Given the description of an element on the screen output the (x, y) to click on. 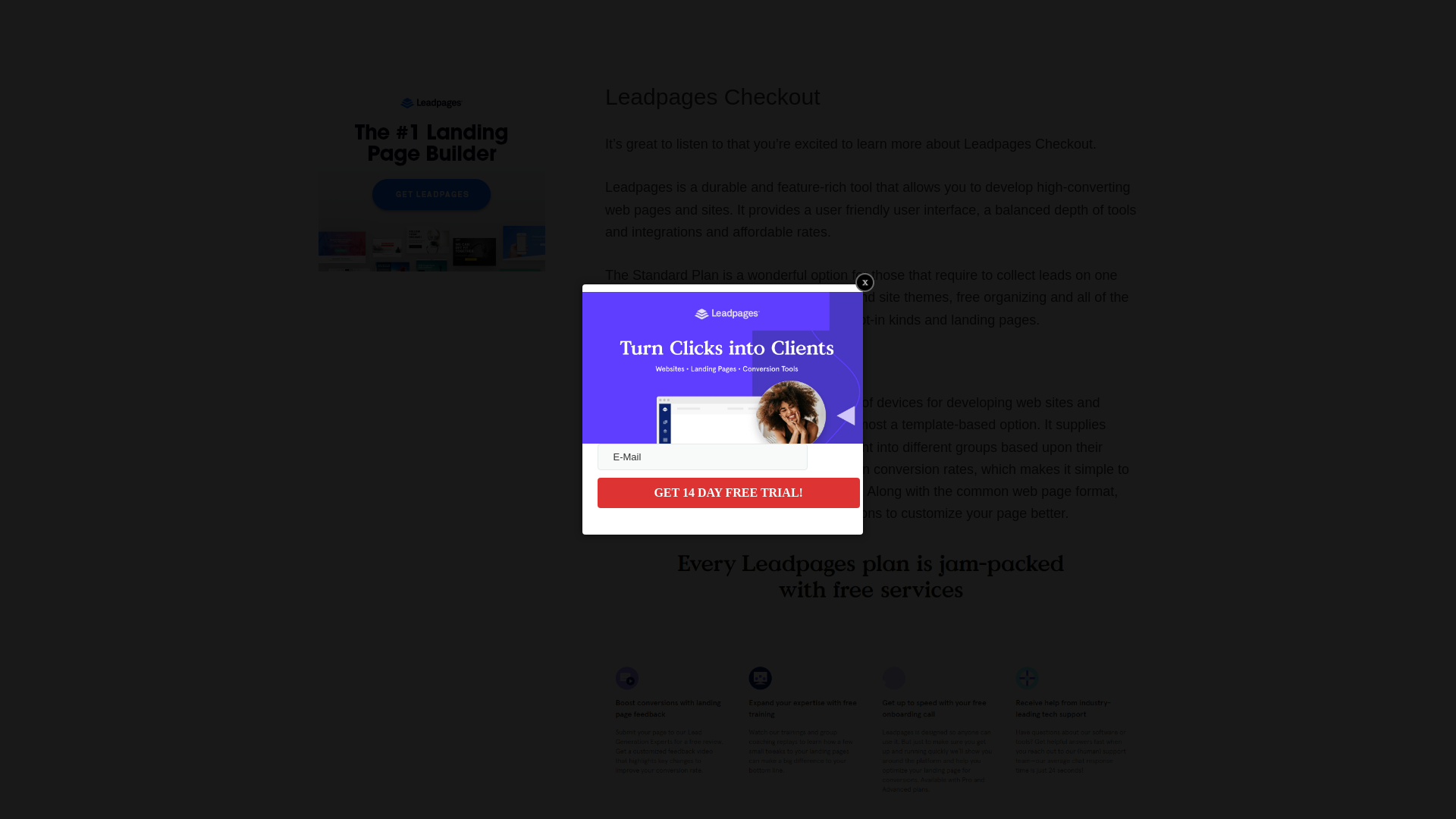
GET 14 DAY FREE TRIAL! (728, 492)
GET 14 DAY FREE TRIAL! (728, 492)
